Given the description of an element on the screen output the (x, y) to click on. 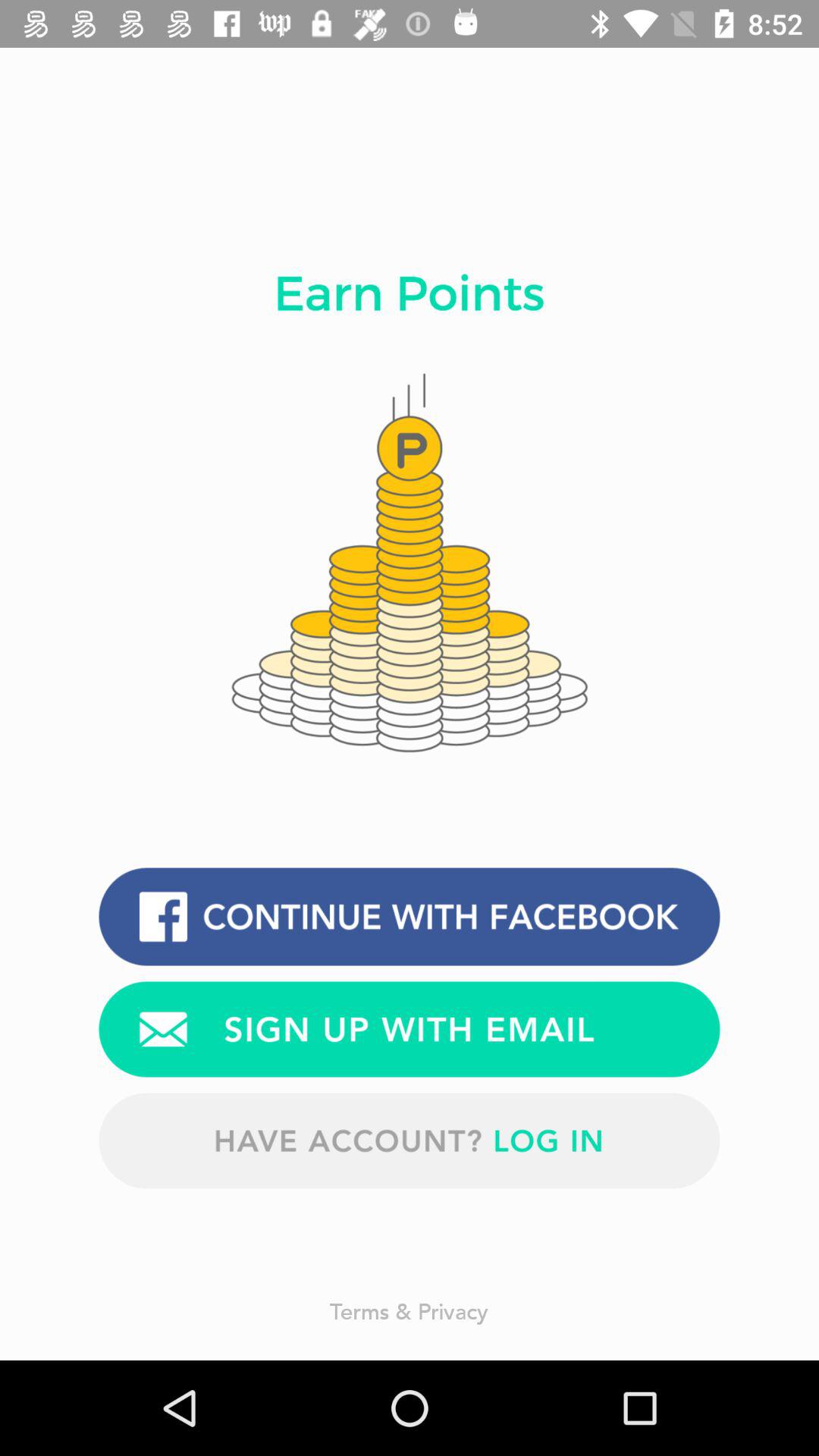
scroll until the terms & privacy item (408, 1310)
